Given the description of an element on the screen output the (x, y) to click on. 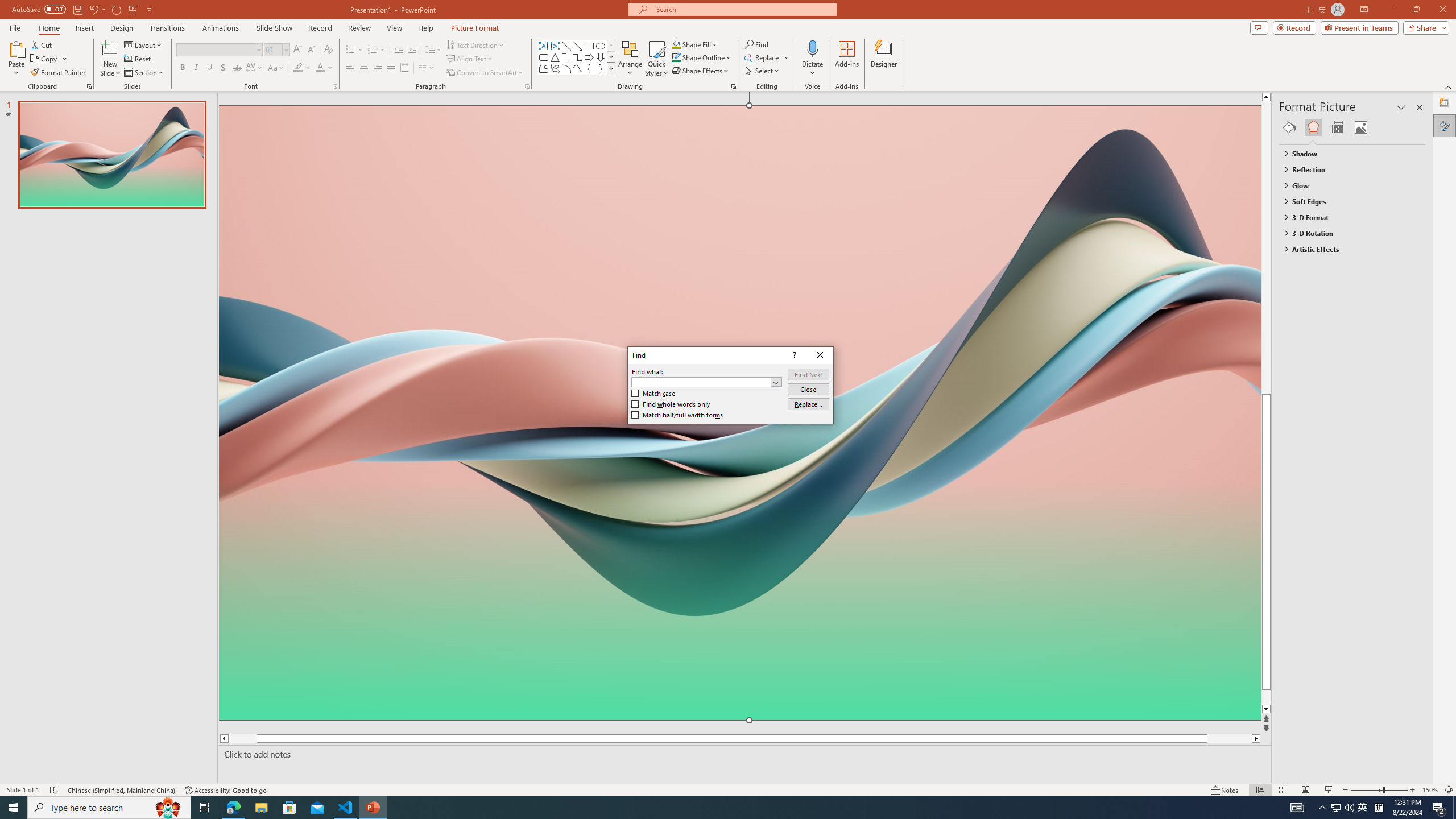
Page up (1287, 247)
Arrow: Down (600, 57)
Shape Effects (700, 69)
Match half/full width forms (677, 414)
Cut (42, 44)
Justify (390, 67)
Change Case (276, 67)
Running applications (707, 807)
